Given the description of an element on the screen output the (x, y) to click on. 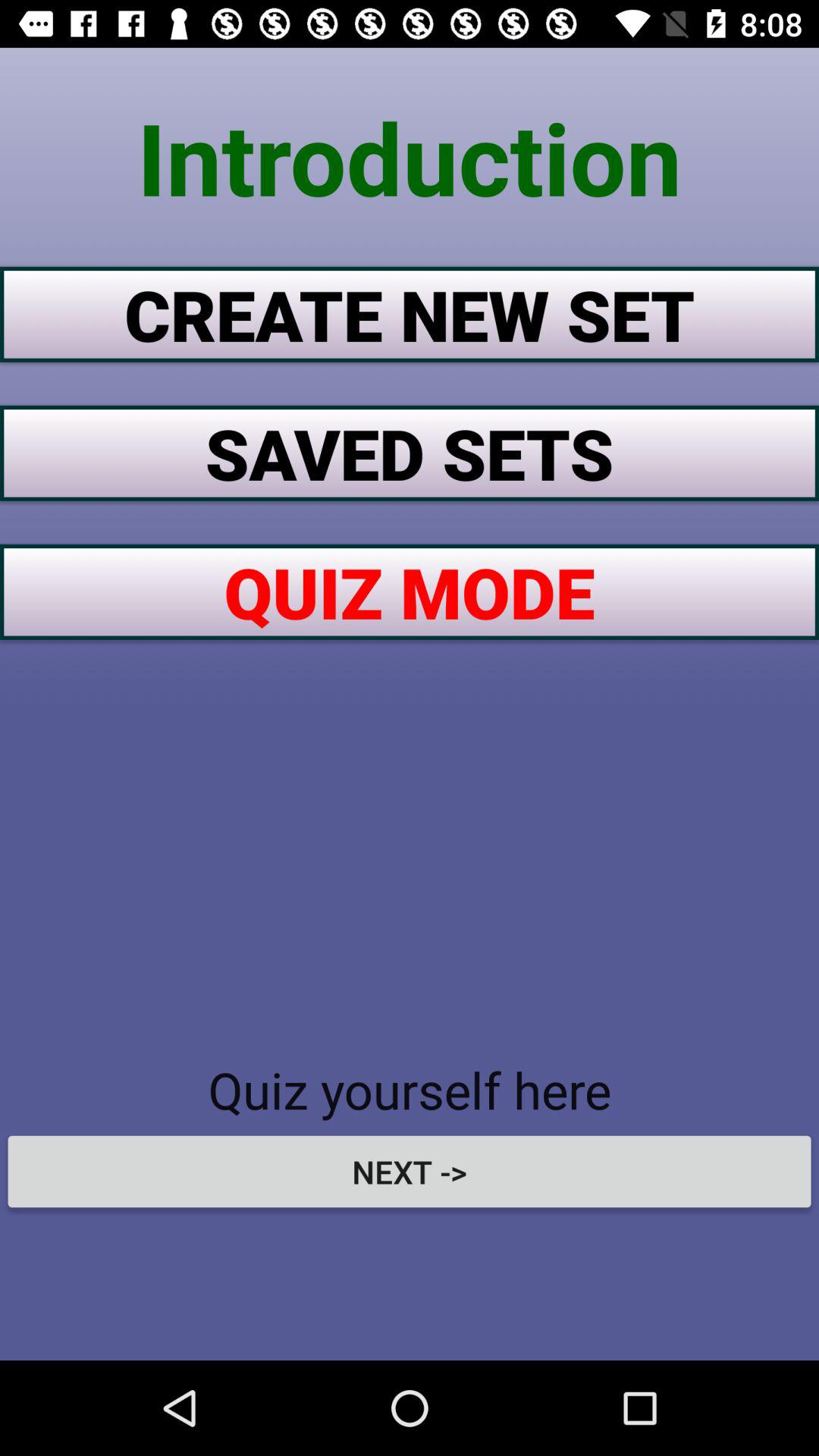
choose item above the quiz mode item (409, 453)
